Given the description of an element on the screen output the (x, y) to click on. 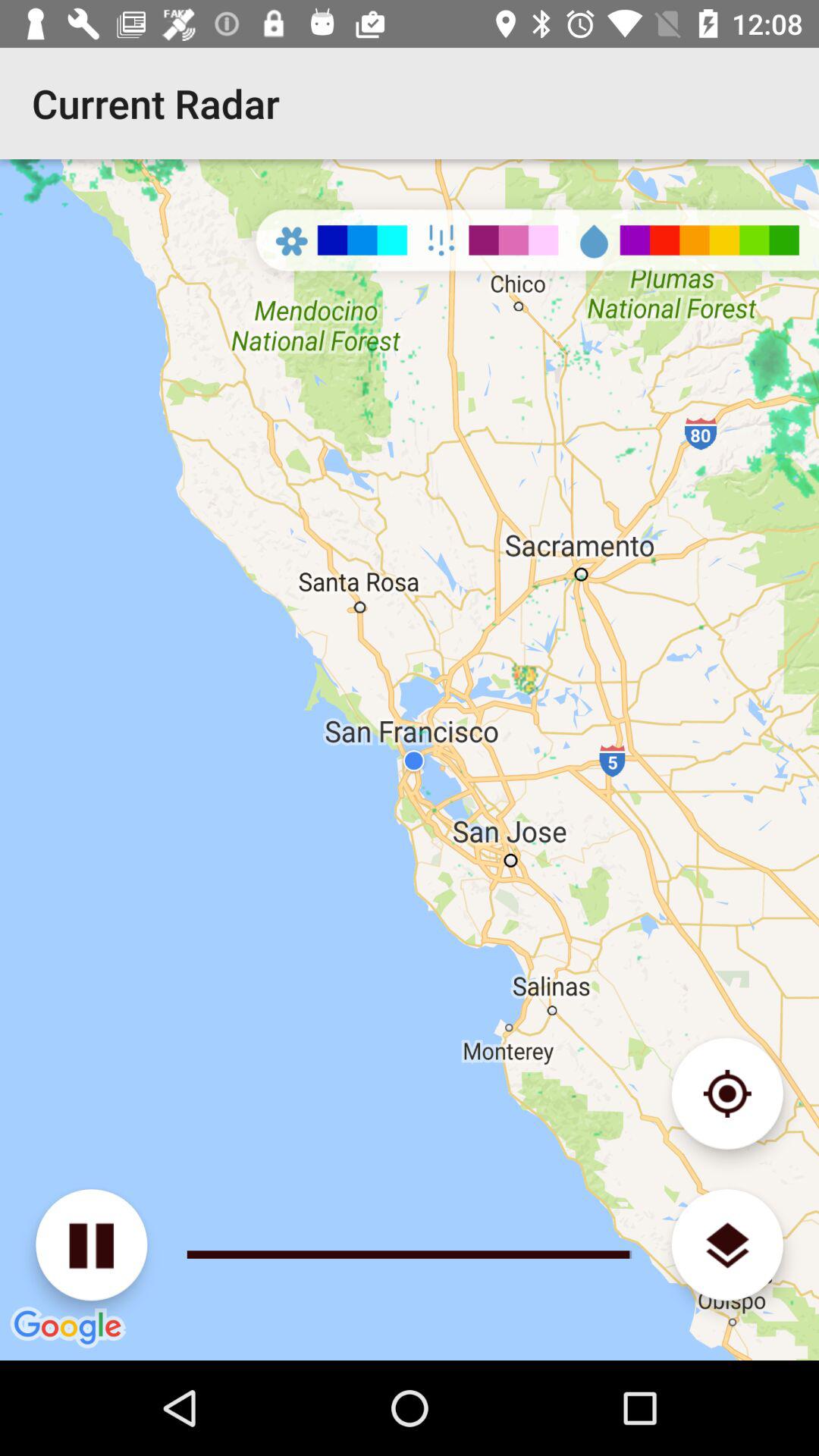
pause (91, 1244)
